Given the description of an element on the screen output the (x, y) to click on. 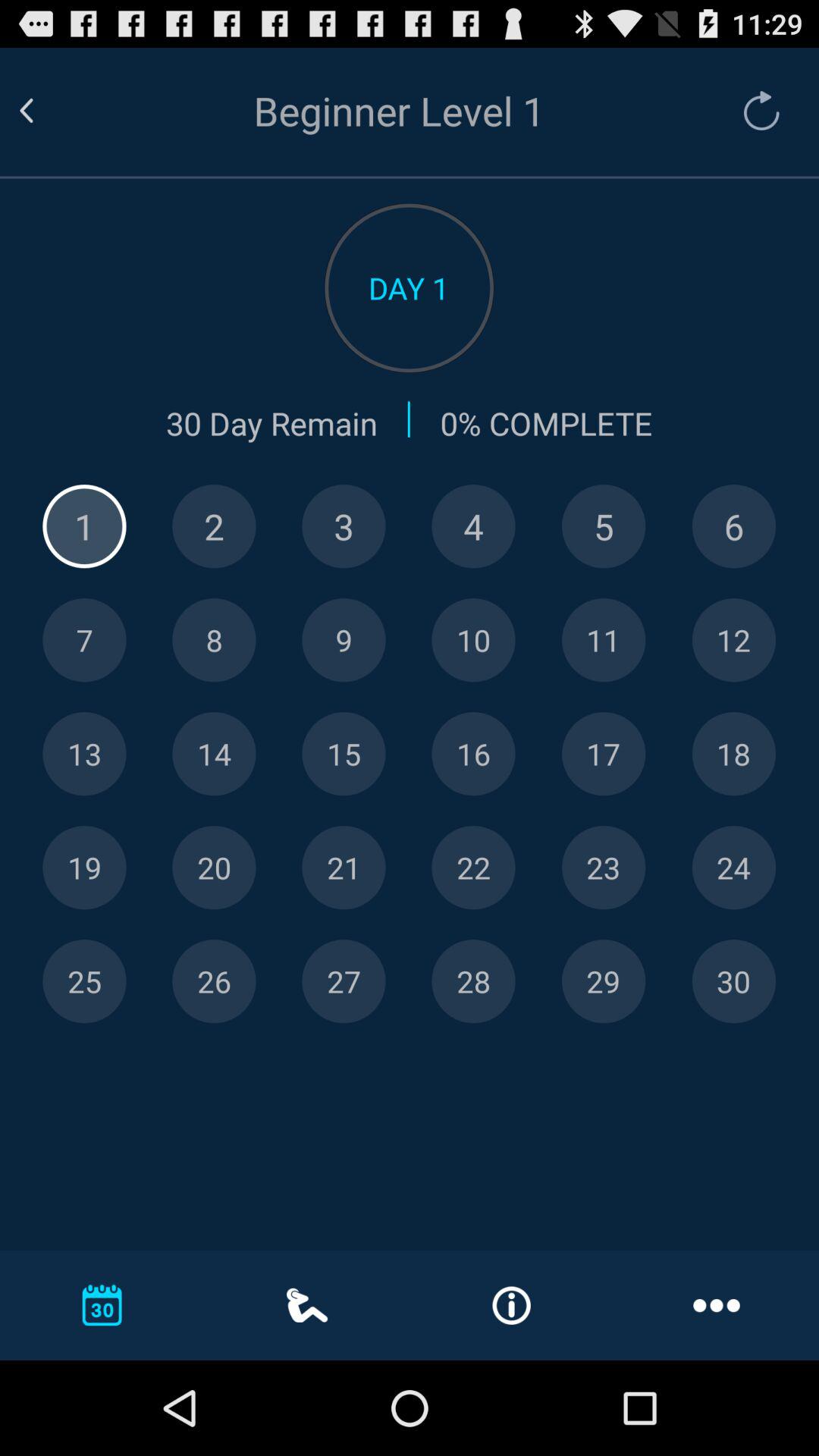
26th day (213, 981)
